Given the description of an element on the screen output the (x, y) to click on. 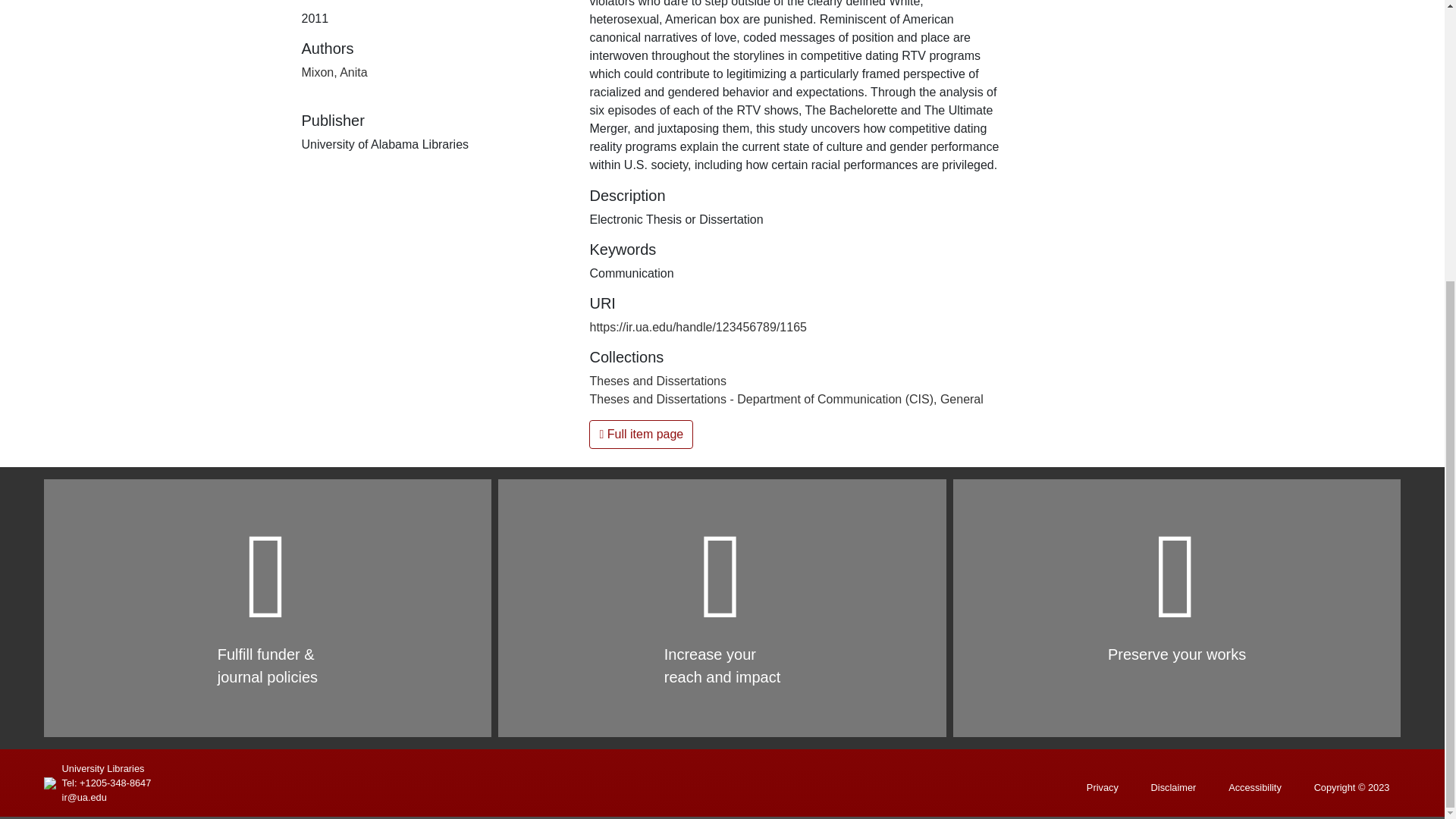
Accessibility (1254, 787)
Copyright (1351, 787)
Disclaimer (1174, 787)
Disclaimer (1174, 787)
Privacy (1102, 787)
University Libraries (103, 768)
Full item page (641, 434)
Privacy (1102, 787)
Accessibility (1254, 787)
Mixon, Anita (334, 72)
